Given the description of an element on the screen output the (x, y) to click on. 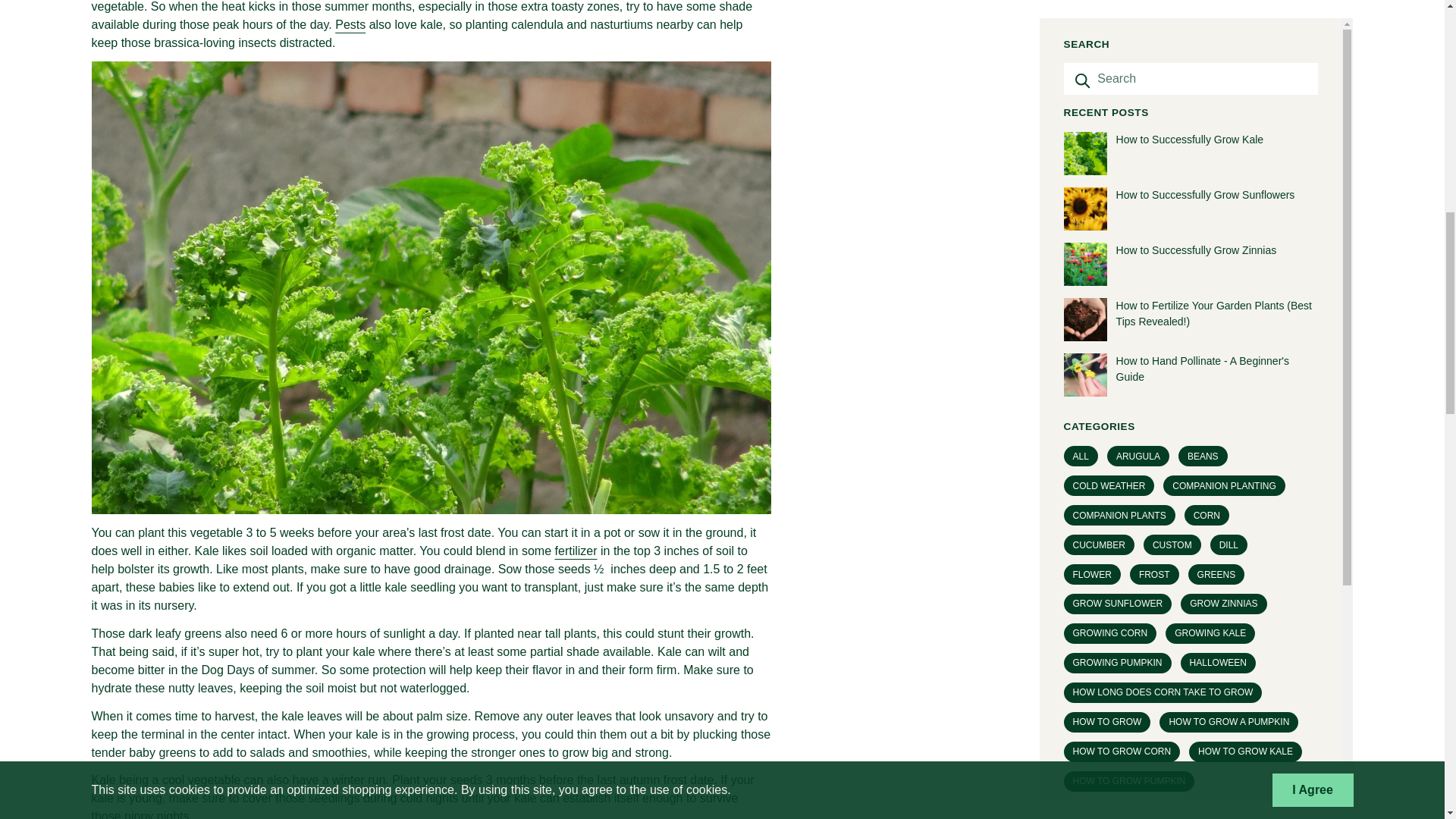
COLD WEATHER (1109, 173)
Pests (349, 24)
COMPANION PLANTING (1223, 173)
How to Hand Pollinate - A Beginner's Guide (1191, 63)
fertilizer (575, 550)
BEANS (1202, 144)
ARUGULA (1137, 144)
ALL (1080, 144)
